Given the description of an element on the screen output the (x, y) to click on. 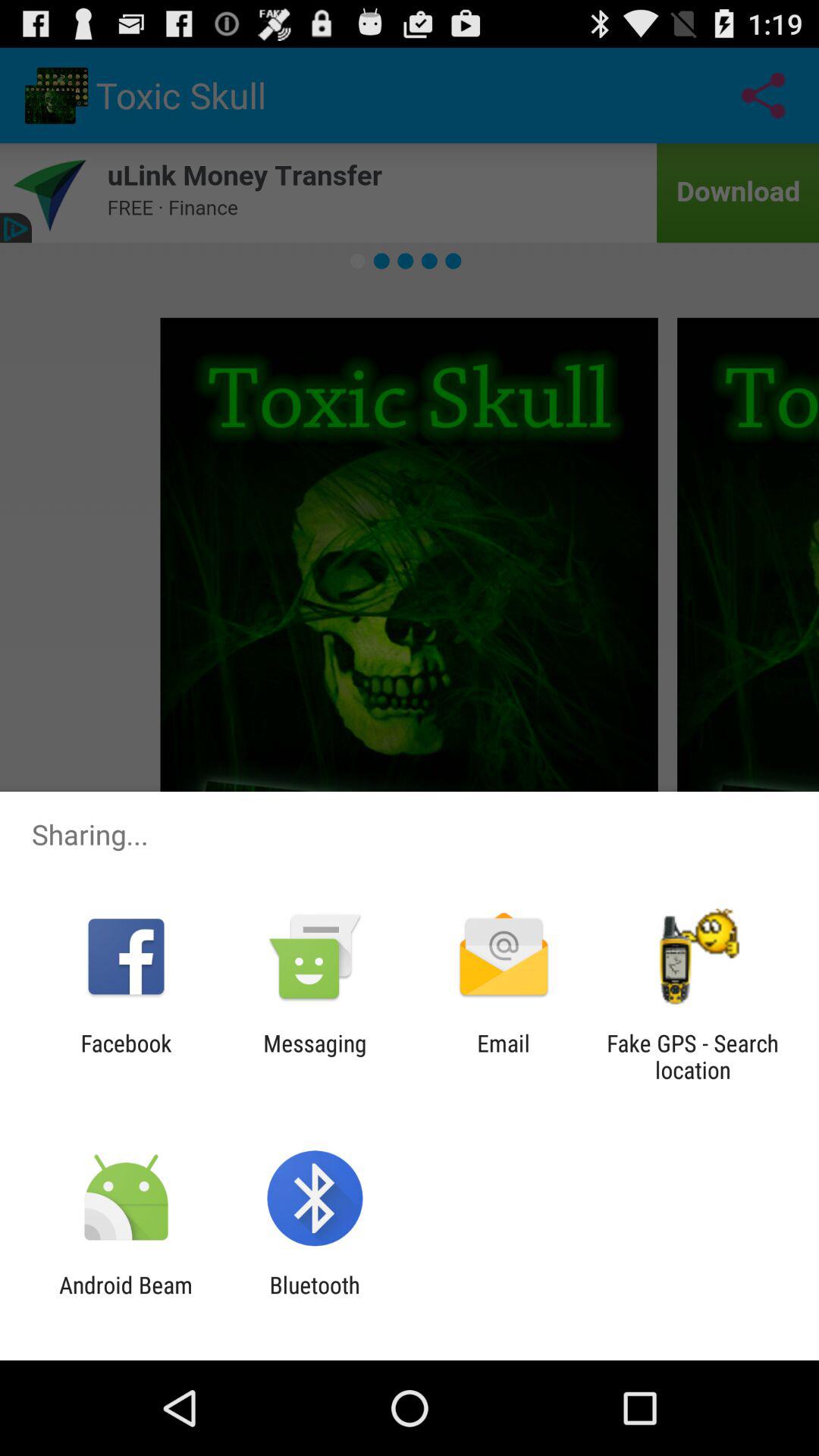
select app to the left of email (314, 1056)
